Given the description of an element on the screen output the (x, y) to click on. 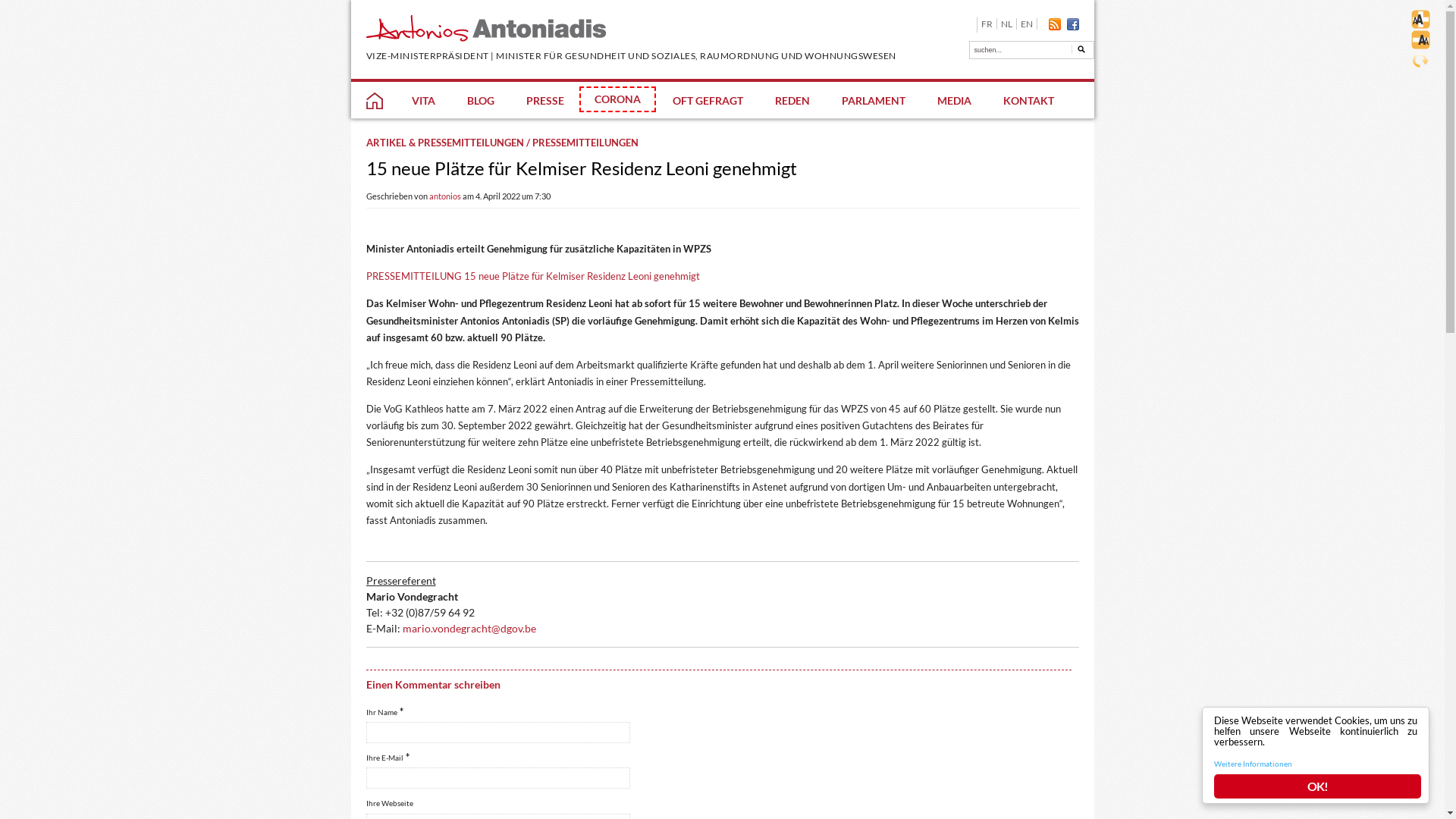
VITA Element type: text (421, 98)
MEDIA Element type: text (953, 98)
OFT GEFRAGT Element type: text (706, 98)
FR Element type: text (986, 23)
ARTIKEL & PRESSEMITTEILUNGEN Element type: text (444, 142)
KONTAKT Element type: text (1026, 98)
Weitere Informationen Element type: text (1253, 763)
EN Element type: text (1026, 23)
PARLAMENT Element type: text (872, 98)
antonios Element type: text (445, 195)
PRESSEMITTEILUNGEN Element type: text (585, 142)
OK! Element type: text (1317, 786)
CORONA Element type: text (617, 99)
mario.vondegracht@dgov.be Element type: text (468, 627)
PRESSE Element type: text (544, 98)
NL Element type: text (1006, 23)
Standard Element type: hover (1420, 59)
Schrift verkleinern Element type: hover (1420, 39)
HOME Element type: text (372, 100)
BLOG Element type: text (479, 98)
REDEN Element type: text (791, 98)
Go Element type: text (1077, 54)
